Given the description of an element on the screen output the (x, y) to click on. 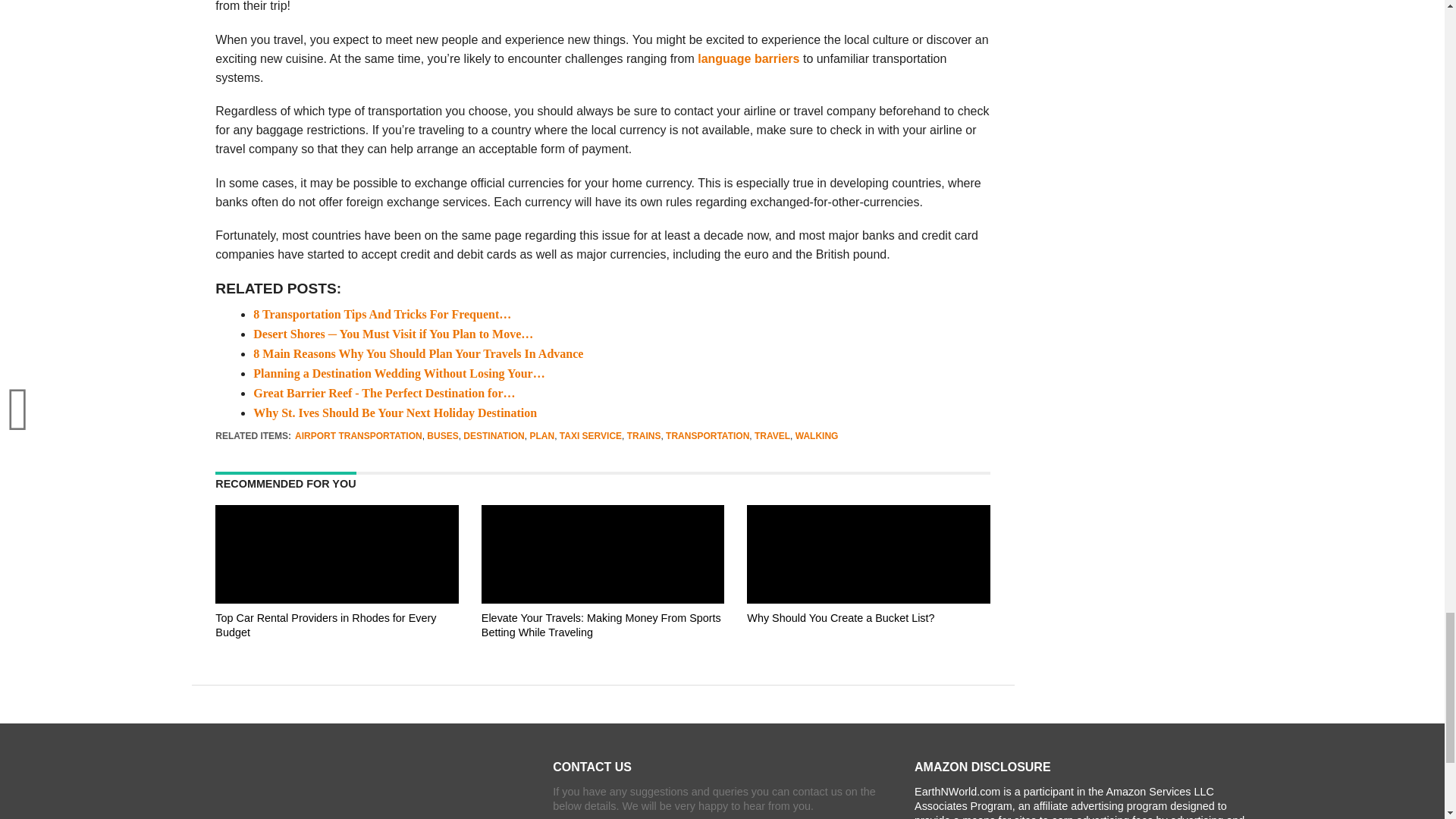
DESTINATION (493, 435)
TRAVEL (772, 435)
WALKING (816, 435)
Why Should You Create a Bucket List? (868, 645)
PLAN (541, 435)
language barriers (748, 58)
TRAINS (644, 435)
8 Main Reasons Why You Should Plan Your Travels In Advance (418, 353)
AIRPORT TRANSPORTATION (358, 435)
Why St. Ives Should Be Your Next Holiday Destination (395, 412)
TAXI SERVICE (590, 435)
Top Car Rental Providers in Rhodes for Every Budget (336, 645)
BUSES (442, 435)
TRANSPORTATION (707, 435)
